Given the description of an element on the screen output the (x, y) to click on. 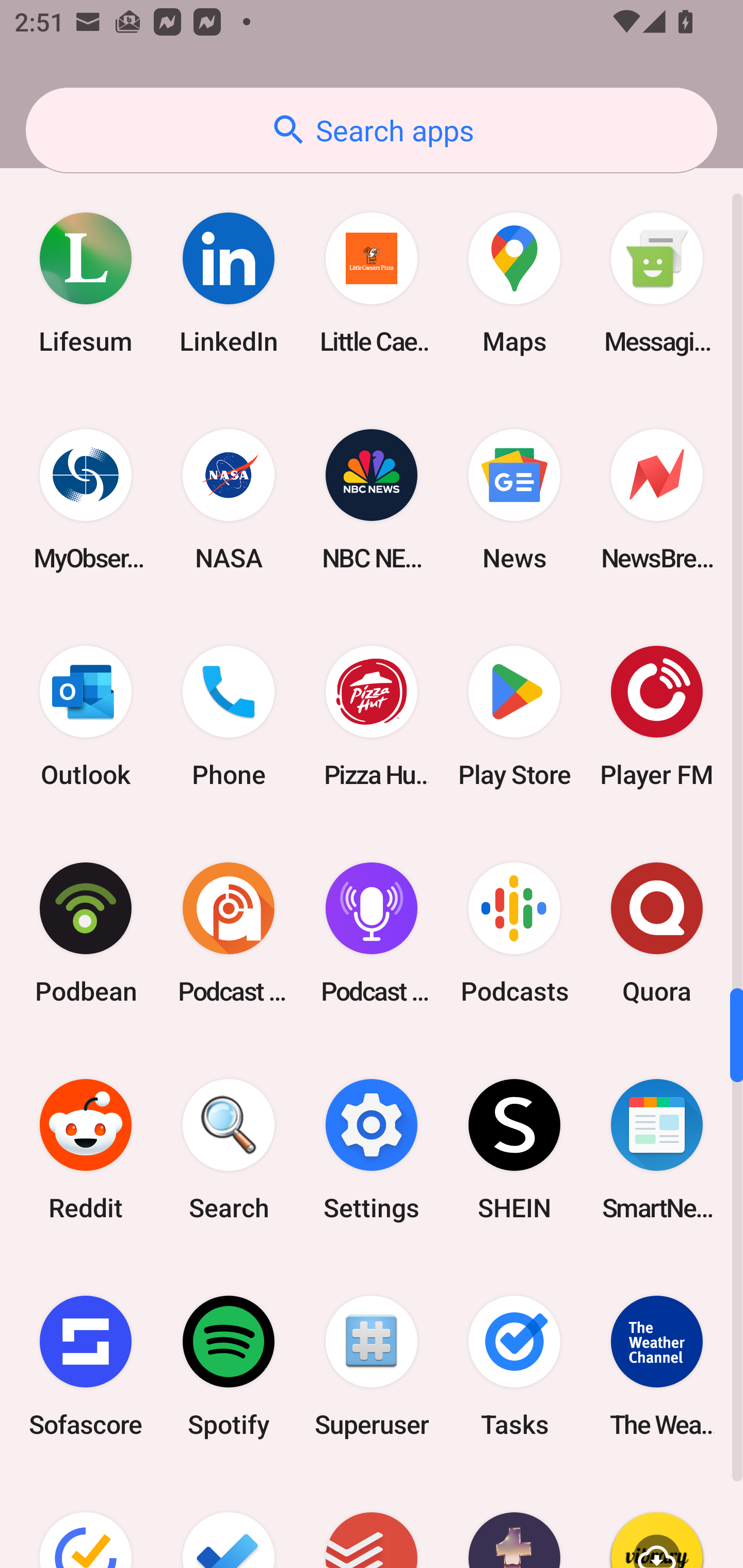
  Search apps (371, 130)
Lifesum (85, 283)
LinkedIn (228, 283)
Little Caesars Pizza (371, 283)
Maps (514, 283)
Messaging (656, 283)
MyObservatory (85, 500)
NASA (228, 500)
NBC NEWS (371, 500)
News (514, 500)
NewsBreak (656, 500)
Outlook (85, 716)
Phone (228, 716)
Pizza Hut HK & Macau (371, 716)
Play Store (514, 716)
Player FM (656, 716)
Podbean (85, 932)
Podcast Addict (228, 932)
Podcast Player (371, 932)
Podcasts (514, 932)
Quora (656, 932)
Reddit (85, 1149)
Search (228, 1149)
Settings (371, 1149)
SHEIN (514, 1149)
SmartNews (656, 1149)
Sofascore (85, 1365)
Spotify (228, 1365)
Superuser (371, 1365)
Tasks (514, 1365)
The Weather Channel (656, 1365)
